Given the description of an element on the screen output the (x, y) to click on. 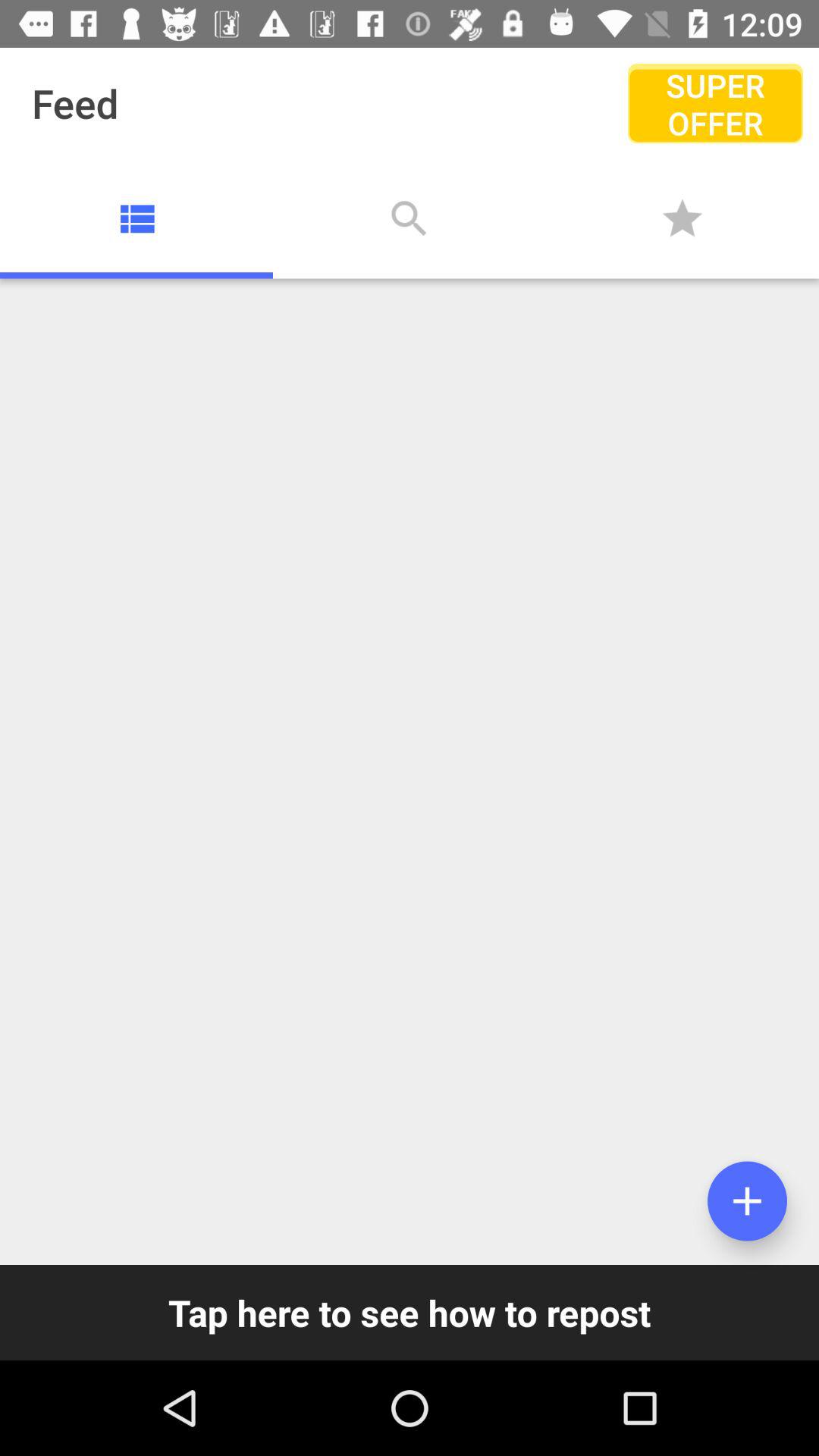
add more (747, 1201)
